Given the description of an element on the screen output the (x, y) to click on. 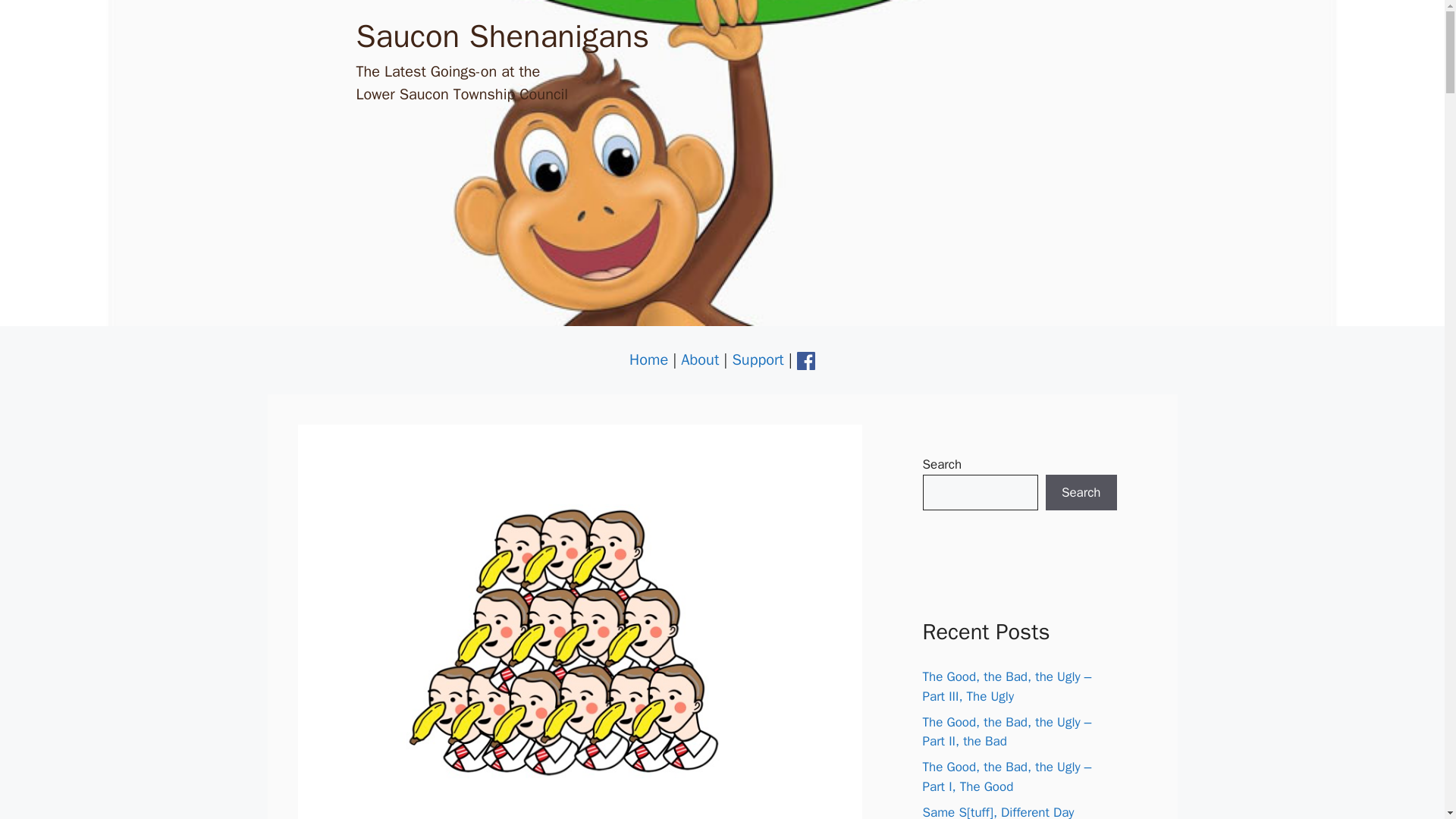
About (700, 359)
Support (757, 359)
Saucon Shenanigans (502, 36)
Home (648, 359)
Search (1080, 493)
